Given the description of an element on the screen output the (x, y) to click on. 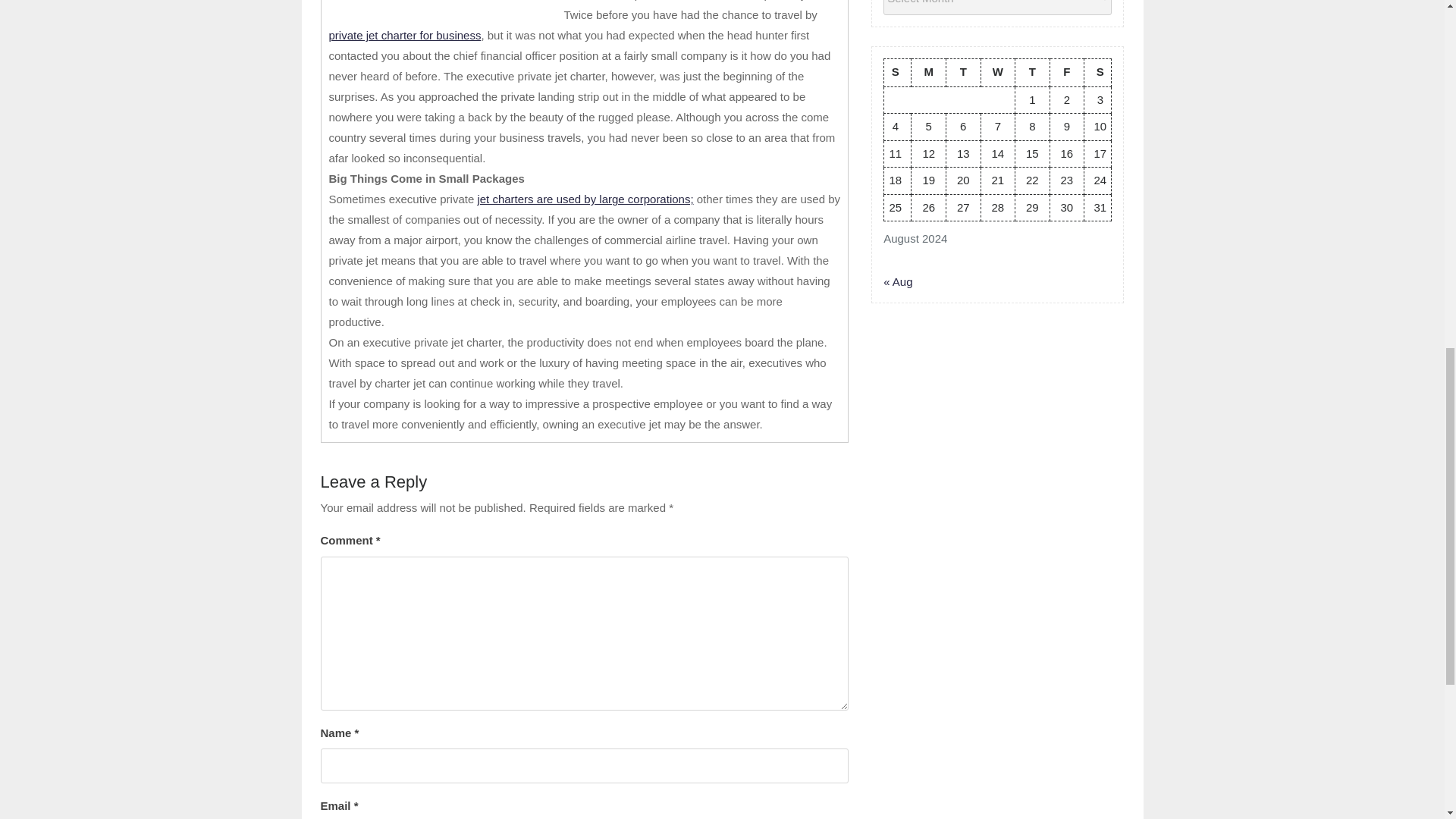
private jet charter for business (405, 34)
Saturday (1098, 72)
Monday (928, 72)
Sunday (897, 72)
Something to check out (405, 34)
Wednesday (996, 72)
Thursday (1031, 72)
TOP (1397, 73)
jet charters are used by large corporations; (585, 198)
Tuesday (963, 72)
Friday (1066, 72)
Get more on Private jets (585, 198)
